Given the description of an element on the screen output the (x, y) to click on. 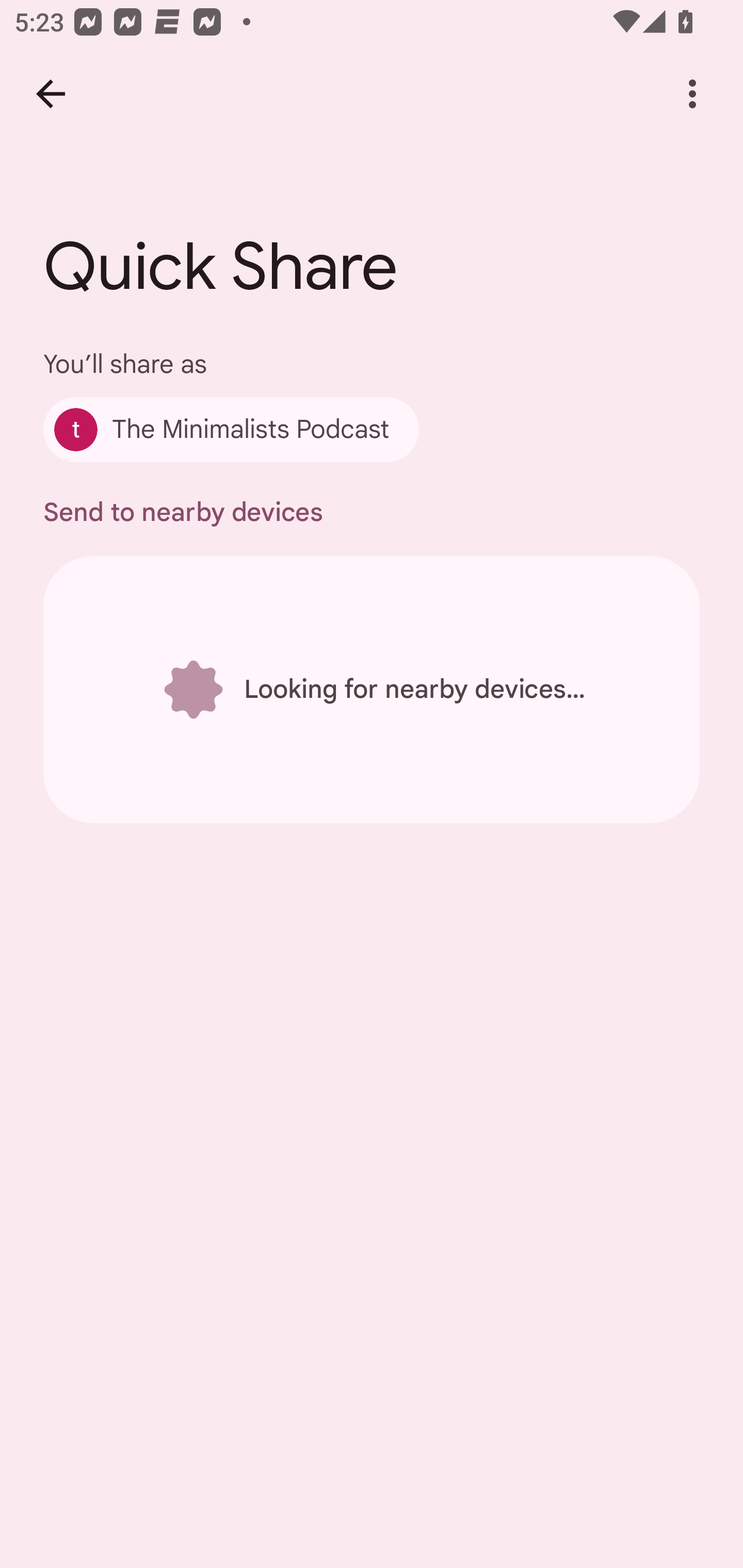
Back (50, 93)
More (692, 93)
The Minimalists Podcast (231, 429)
